Given the description of an element on the screen output the (x, y) to click on. 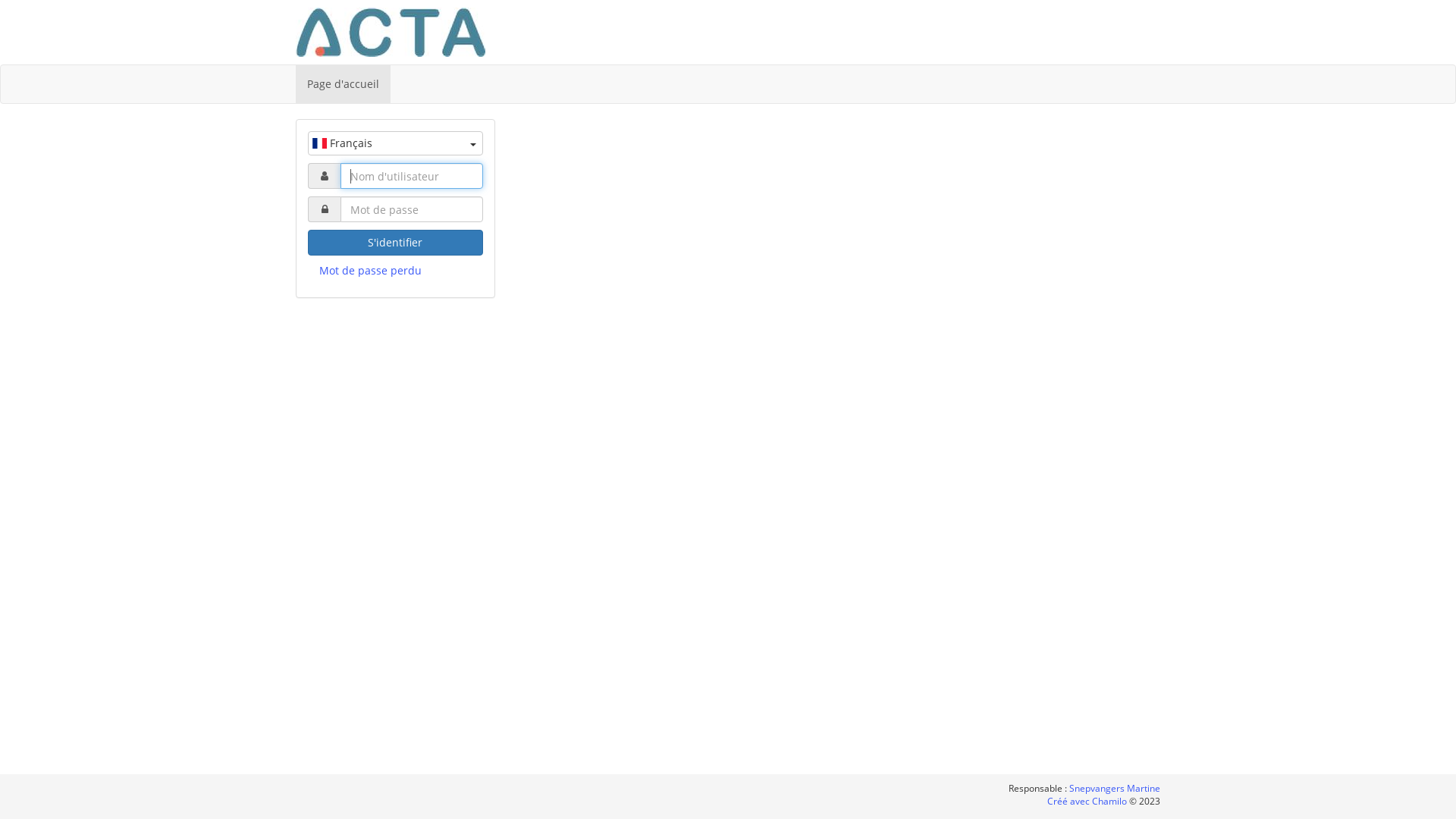
Mot de passe perdu Element type: text (395, 270)
ACTA RTC-A Ecampus Element type: hover (390, 31)
Snepvangers Martine Element type: text (1114, 787)
S'identifier Element type: text (395, 242)
Page d'accueil Element type: text (342, 84)
